Given the description of an element on the screen output the (x, y) to click on. 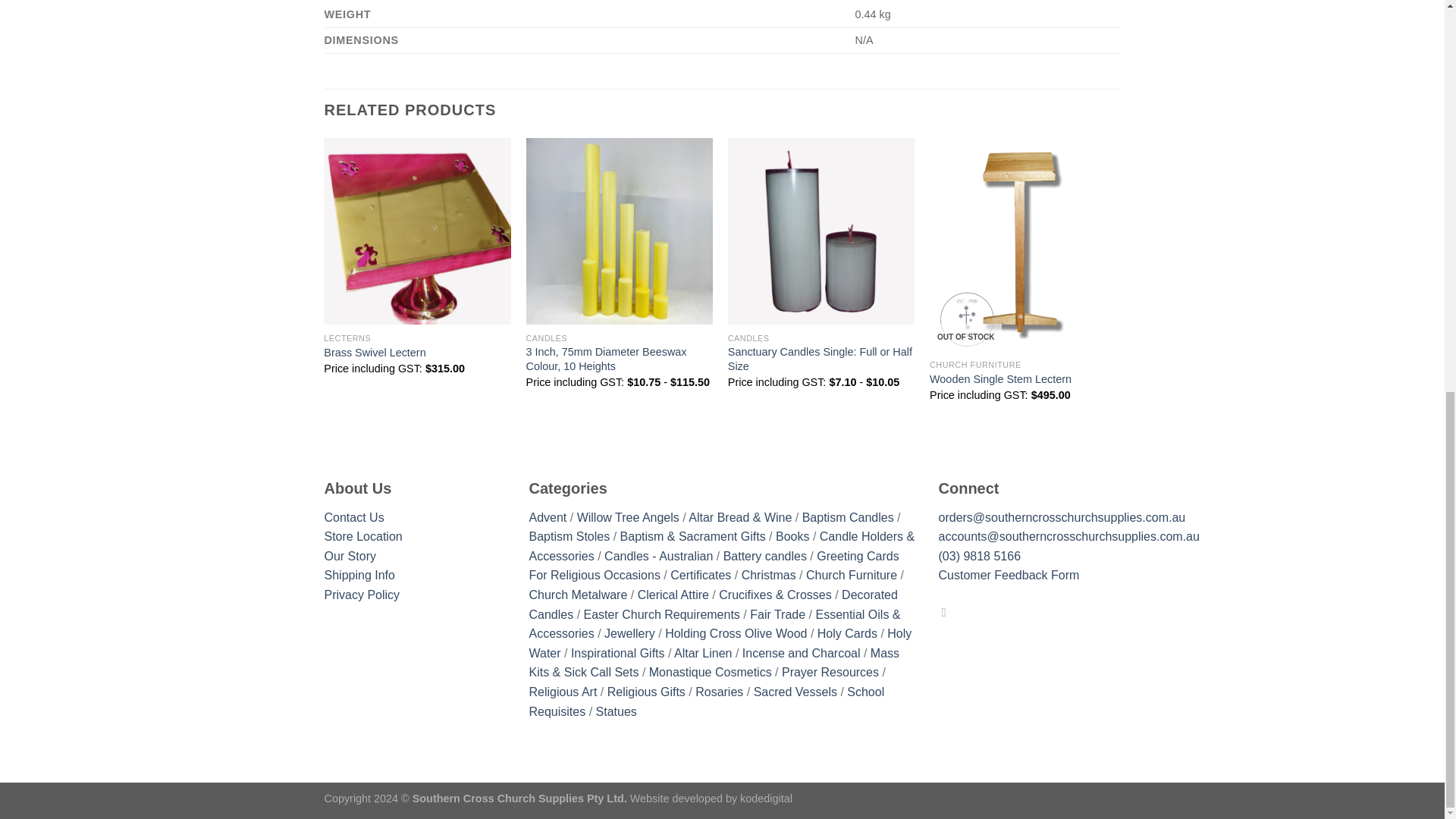
Follow on Facebook (947, 612)
